Given the description of an element on the screen output the (x, y) to click on. 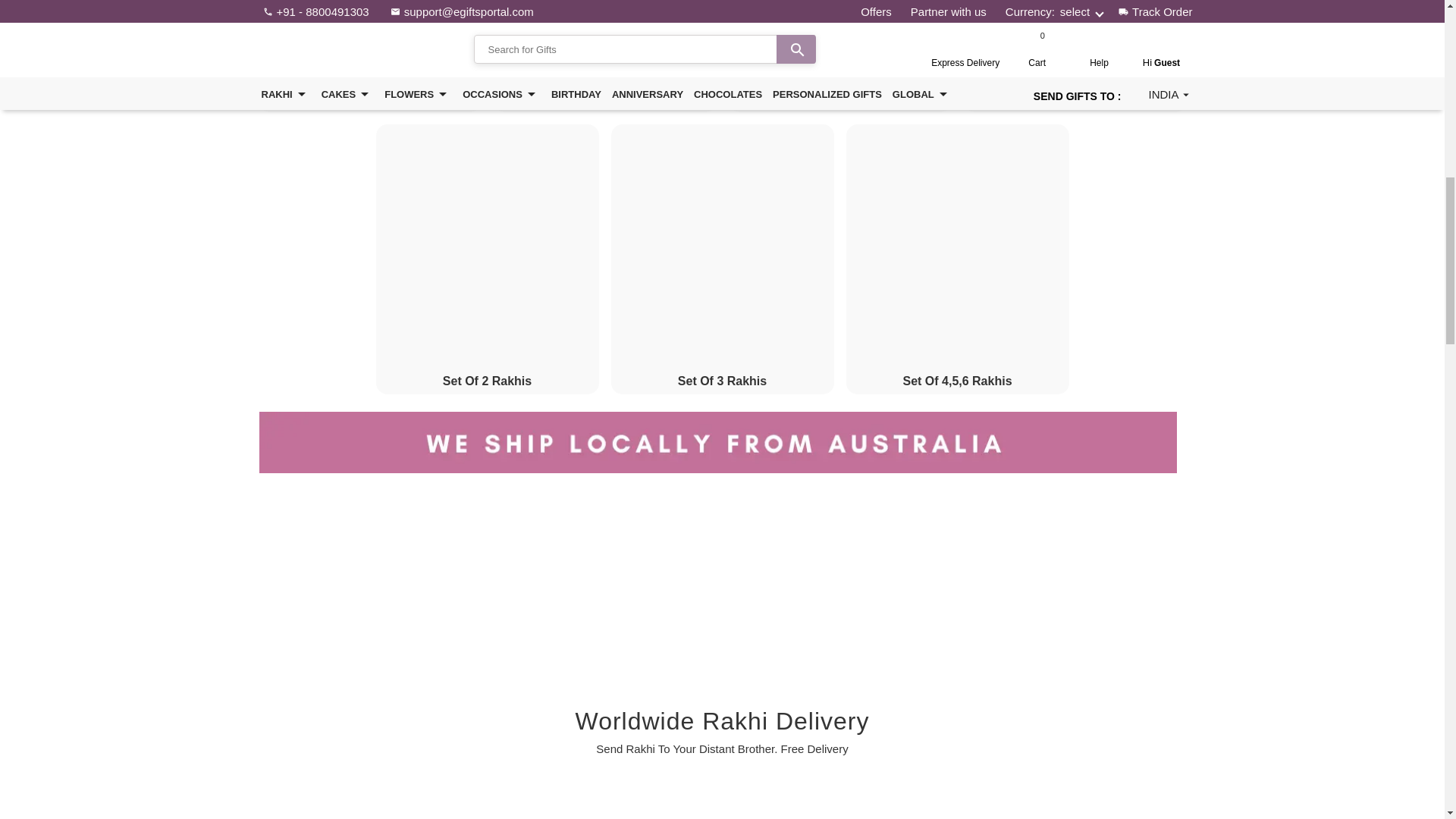
Rakhi To Canada (673, 804)
fullwidthbanner (722, 442)
Rakhi To UK (855, 804)
smallbanner2 (954, 584)
Rakhi To USA (582, 804)
Rakhi To UAE (764, 804)
Rakhi To Germany (949, 804)
smallbanner1 (488, 584)
Rakhi To India (491, 804)
